Given the description of an element on the screen output the (x, y) to click on. 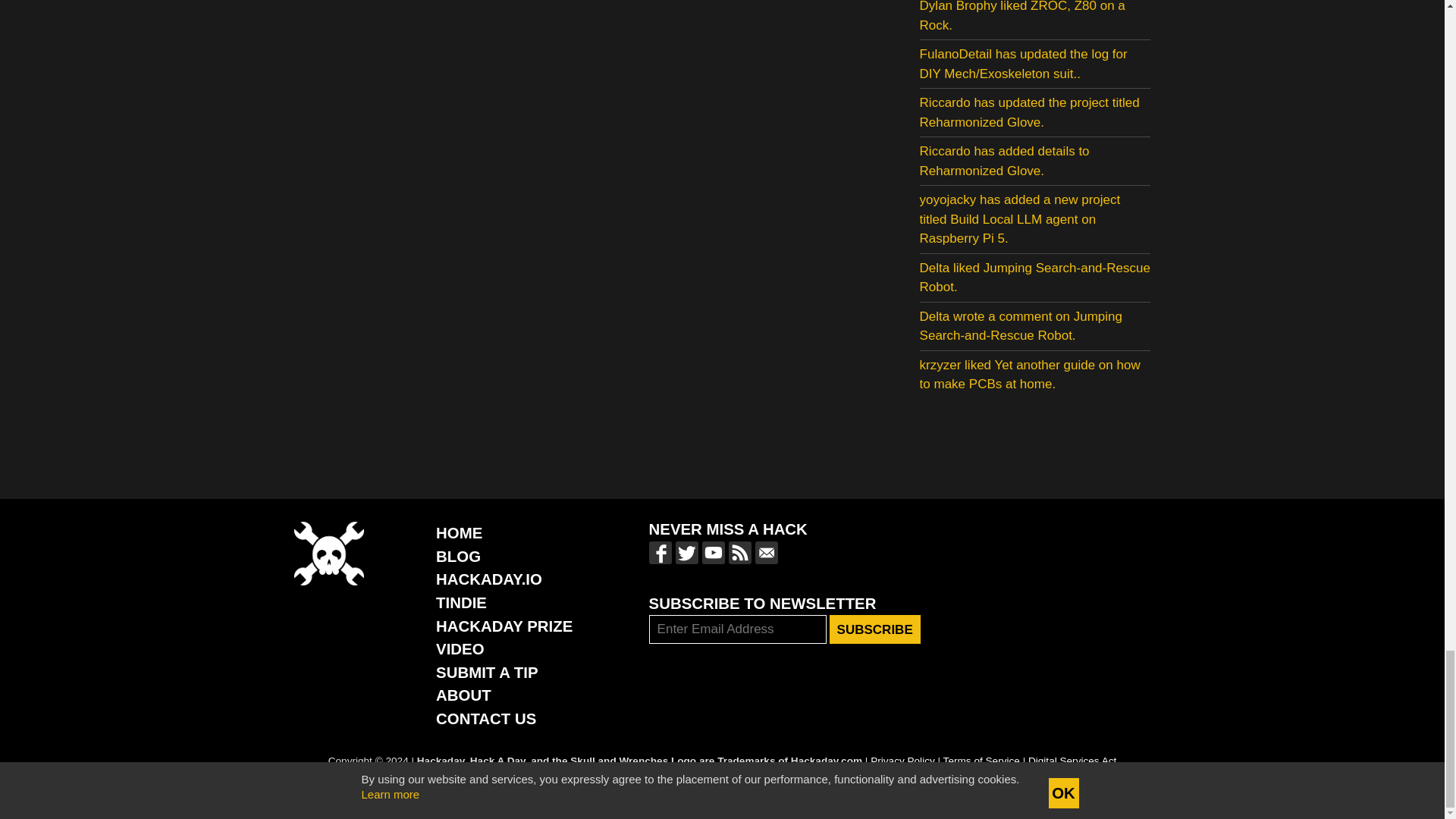
Subscribe (874, 629)
Build Something that Matters (503, 626)
